Given the description of an element on the screen output the (x, y) to click on. 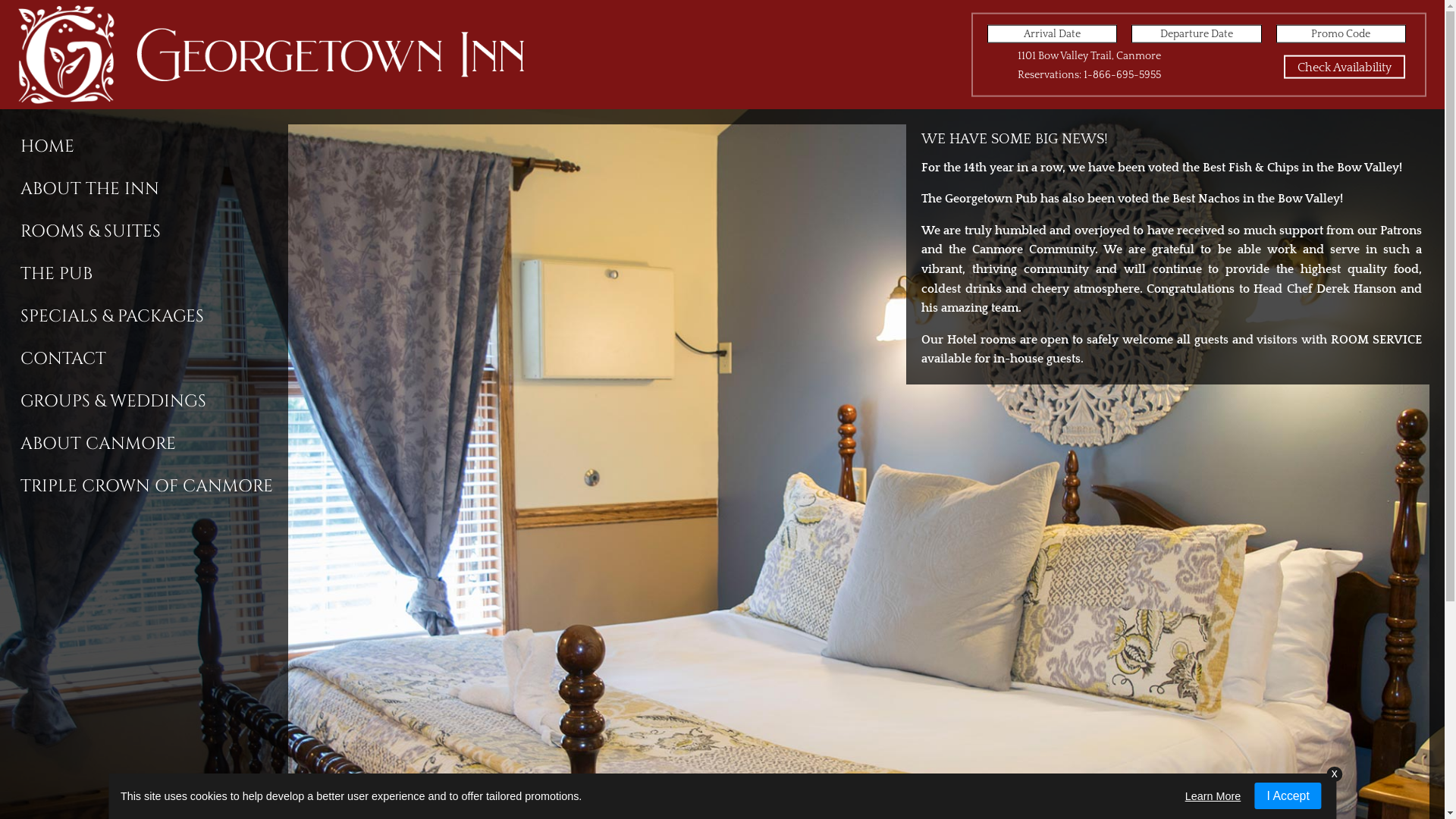
ABOUT THE INN Element type: text (151, 187)
ROOMS & SUITES Element type: text (151, 230)
x Element type: text (1334, 774)
THE PUB Element type: text (151, 272)
Check Availability Element type: text (1344, 66)
HOME Element type: text (151, 145)
GROUPS & WEDDINGS Element type: text (151, 400)
Learn More Element type: text (1213, 796)
CONTACT Element type: text (151, 357)
SPECIALS & PACKAGES Element type: text (151, 315)
TRIPLE CROWN OF CANMORE Element type: text (151, 485)
I Accept Element type: text (1288, 795)
ABOUT CANMORE Element type: text (151, 442)
